Given the description of an element on the screen output the (x, y) to click on. 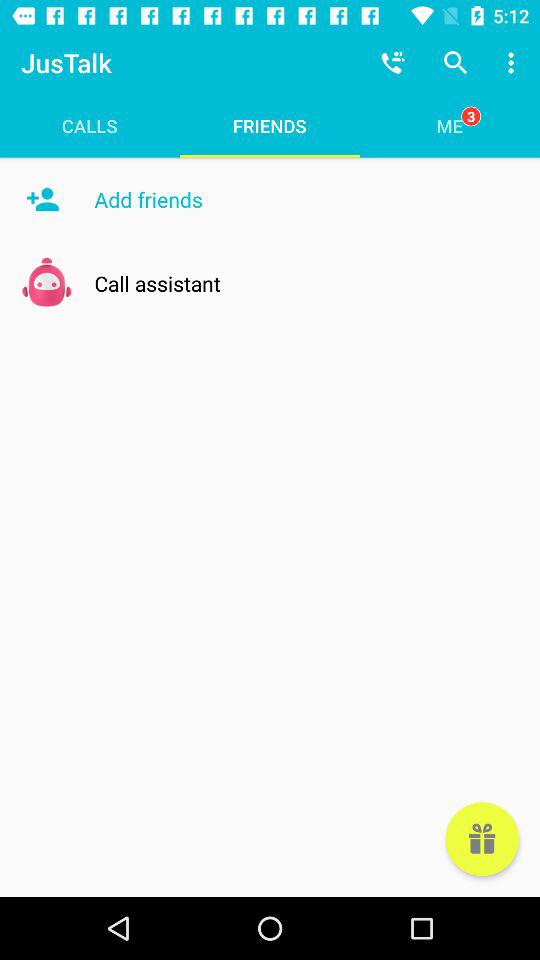
send gift (482, 839)
